Given the description of an element on the screen output the (x, y) to click on. 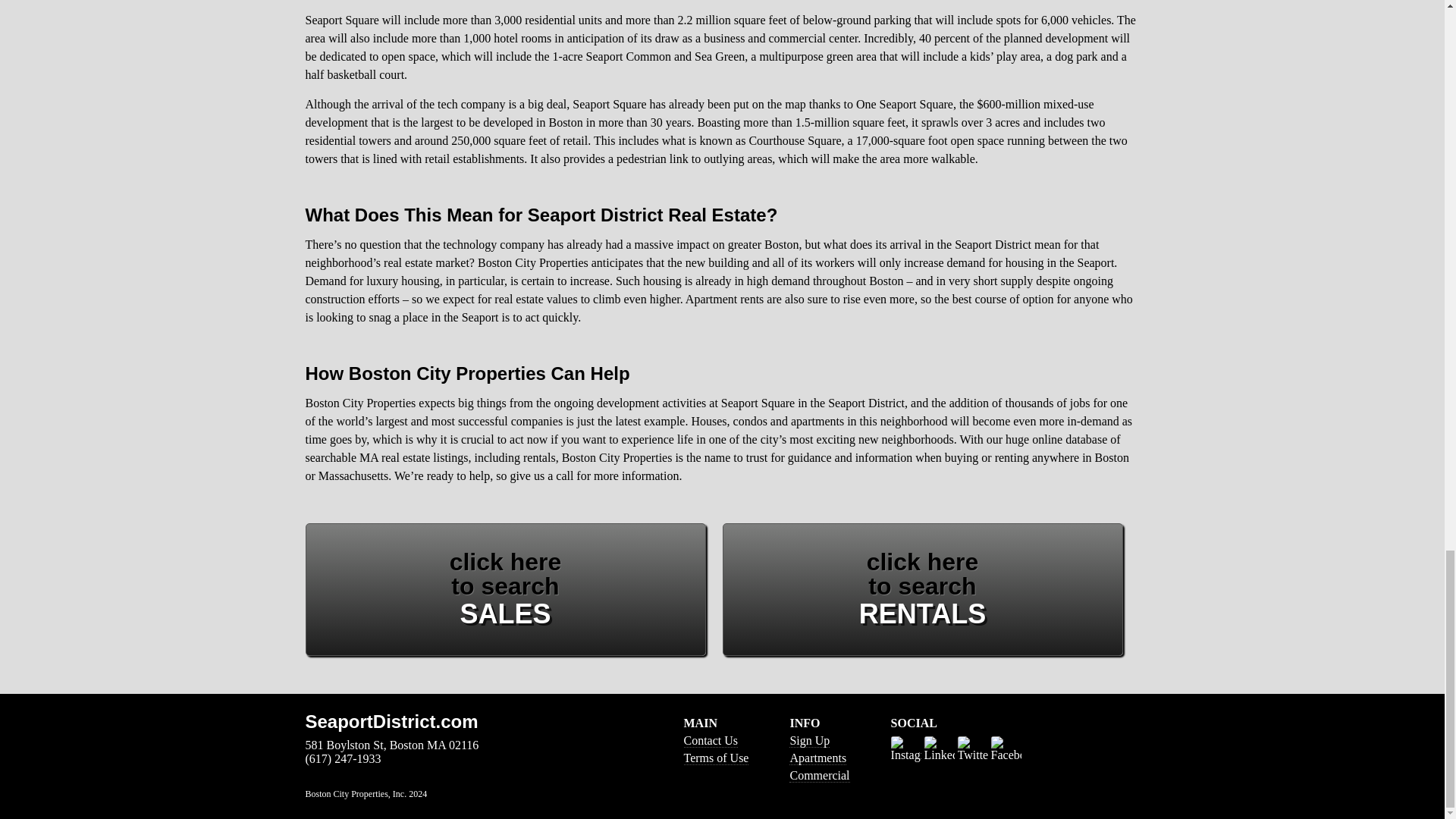
SeaportDistrict.com (471, 721)
Terms of Use (922, 589)
Commercial (716, 757)
Sign Up (818, 775)
Apartments (809, 740)
Contact Us (817, 757)
